Given the description of an element on the screen output the (x, y) to click on. 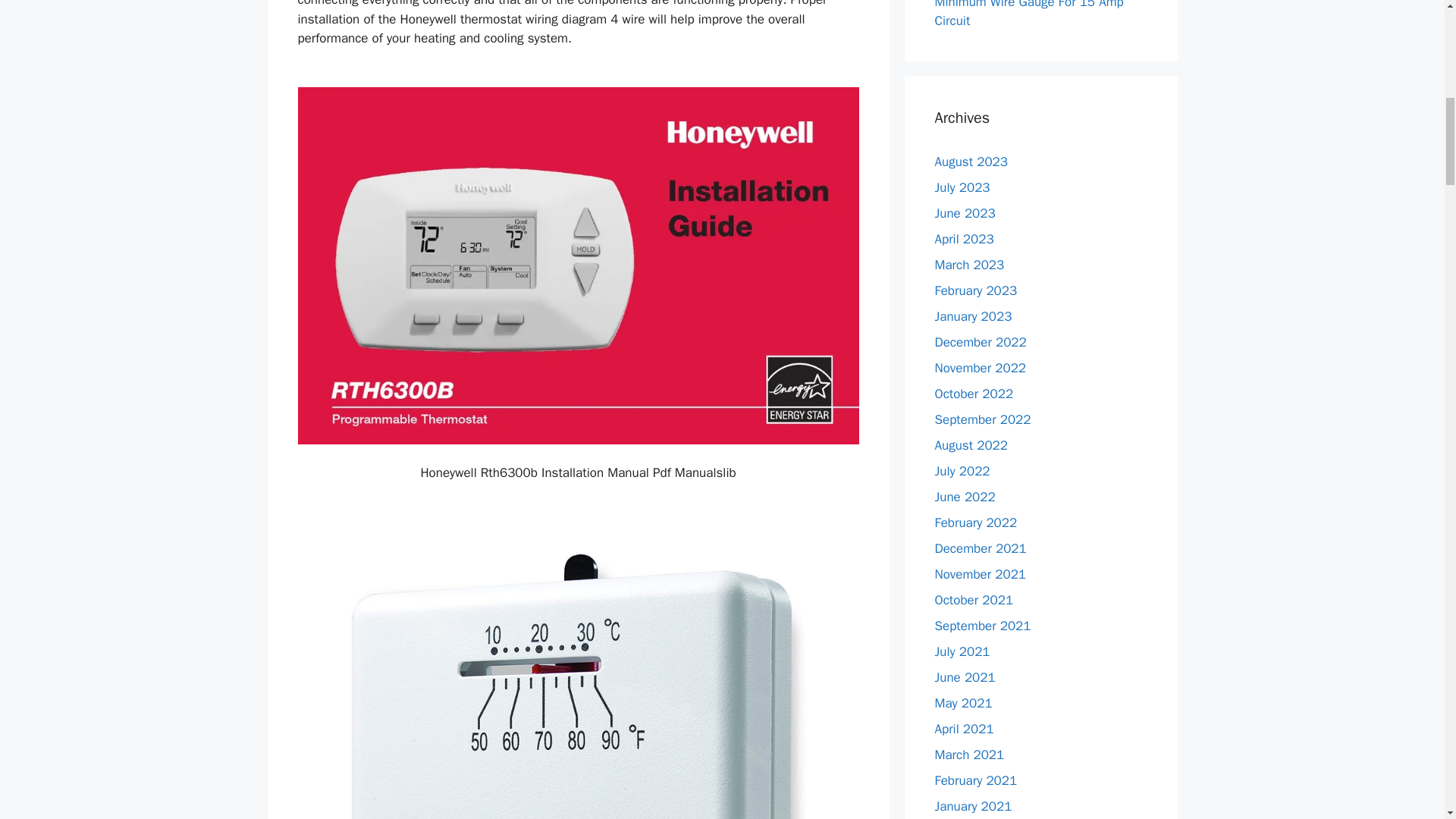
November 2022 (980, 367)
December 2022 (980, 341)
February 2023 (975, 289)
Minimum Wire Gauge For 15 Amp Circuit (1028, 14)
January 2023 (972, 315)
October 2022 (973, 392)
July 2022 (962, 470)
August 2023 (970, 160)
June 2022 (964, 496)
November 2021 (980, 573)
June 2023 (964, 212)
October 2021 (973, 599)
December 2021 (980, 547)
